Given the description of an element on the screen output the (x, y) to click on. 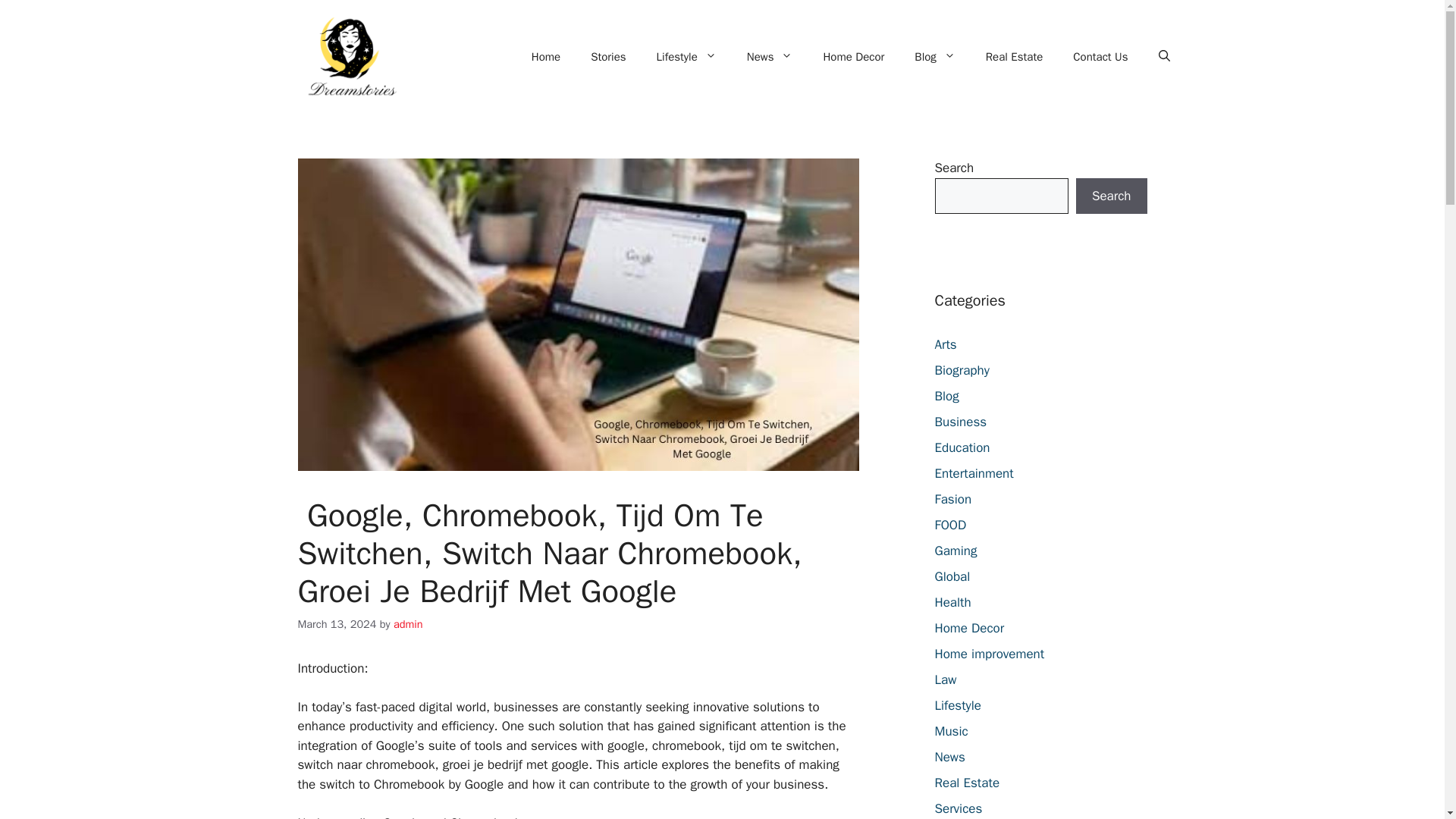
News (770, 55)
Blog (946, 396)
Entertainment (973, 473)
Biography (961, 370)
Home Decor (853, 55)
Arts (945, 344)
Home (545, 55)
Fasion (952, 498)
Search (1111, 196)
Blog (934, 55)
